Given the description of an element on the screen output the (x, y) to click on. 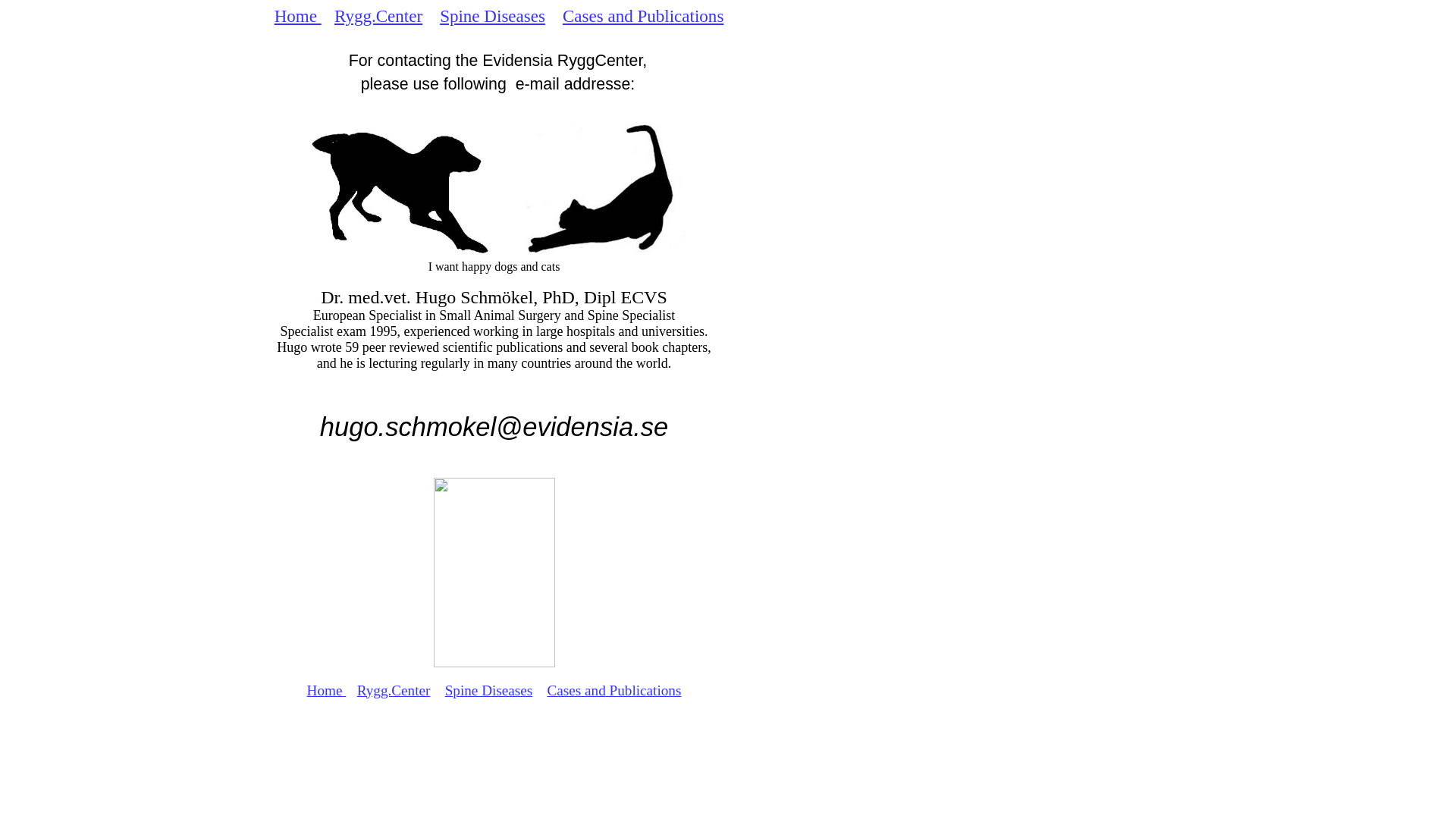
Rygg.Center Element type: text (393, 690)
Cases and Publications Element type: text (642, 15)
Spine Diseases Element type: text (492, 15)
Home Element type: text (297, 15)
Cases and Publications Element type: text (613, 690)
Spine Diseases Element type: text (489, 690)
Home Element type: text (326, 690)
Rygg.Center Element type: text (378, 15)
